Given the description of an element on the screen output the (x, y) to click on. 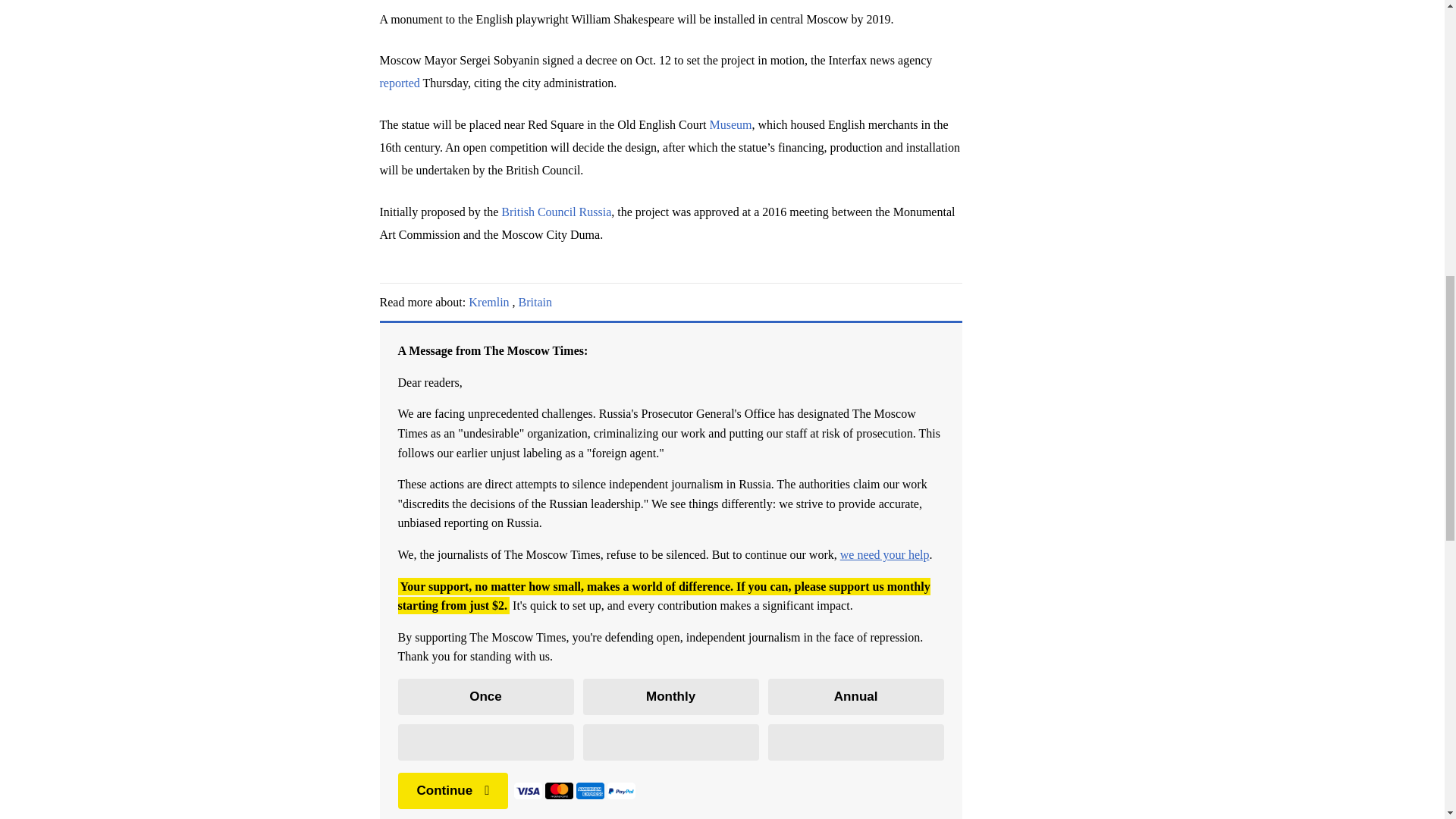
Britain (534, 301)
Kremlin (488, 301)
we need your help (885, 554)
